Given the description of an element on the screen output the (x, y) to click on. 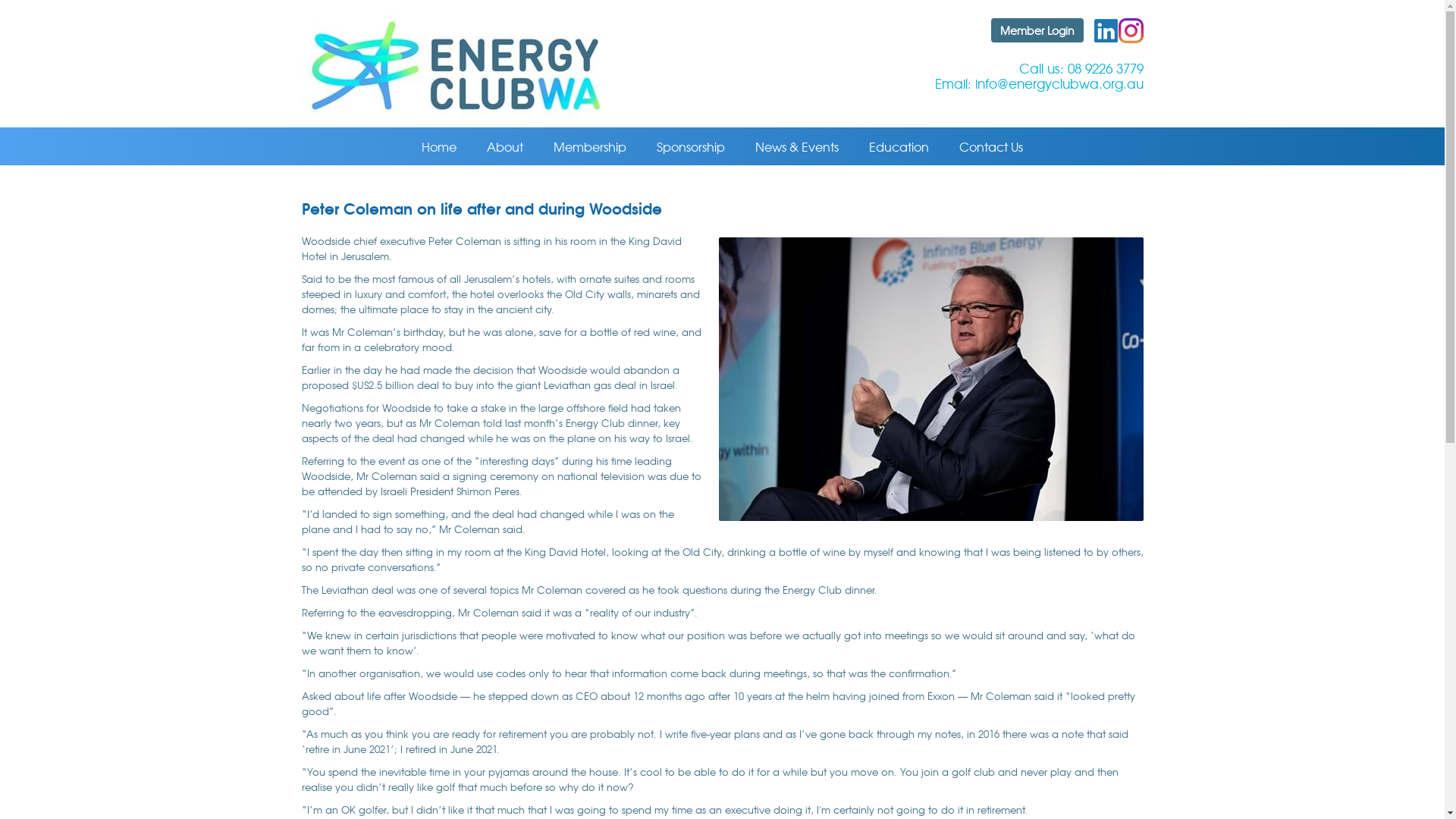
info@energyclubwa.org.au Element type: text (1059, 82)
Member Login Element type: text (1036, 30)
Contact Us Element type: text (991, 146)
Home Element type: text (438, 146)
News & Events Element type: text (796, 146)
Education Element type: text (898, 146)
08 9226 3779 Element type: text (1105, 67)
Membership Element type: text (589, 146)
Call us: Element type: text (1043, 67)
About Element type: text (504, 146)
Sponsorship Element type: text (690, 146)
